Given the description of an element on the screen output the (x, y) to click on. 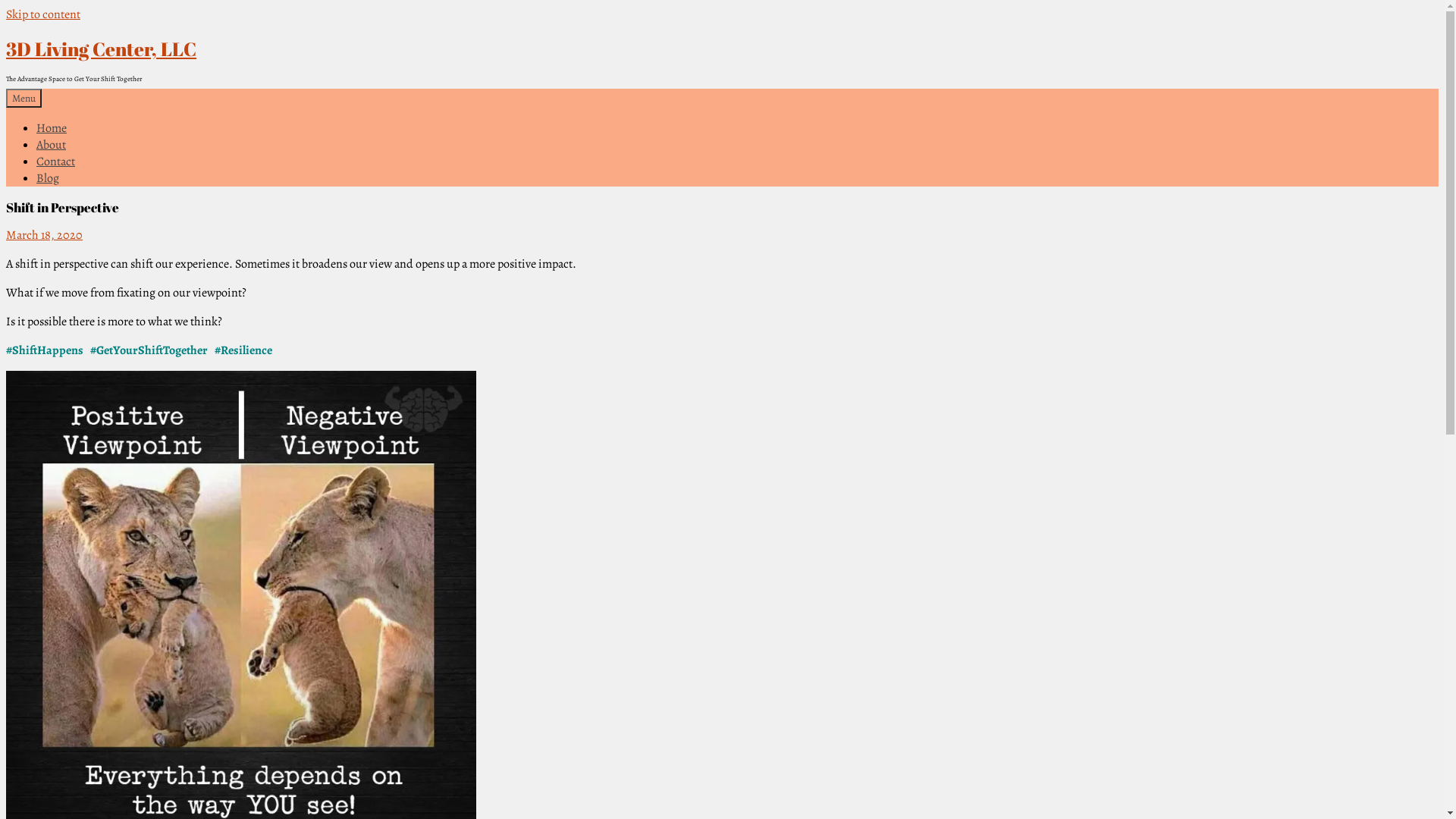
Menu Element type: text (23, 97)
Home Element type: text (51, 127)
About Element type: text (50, 144)
3D Living Center, LLC Element type: text (101, 48)
March 18, 2020 Element type: text (44, 234)
Contact Element type: text (55, 161)
Blog Element type: text (47, 177)
Skip to content Element type: text (43, 14)
